Given the description of an element on the screen output the (x, y) to click on. 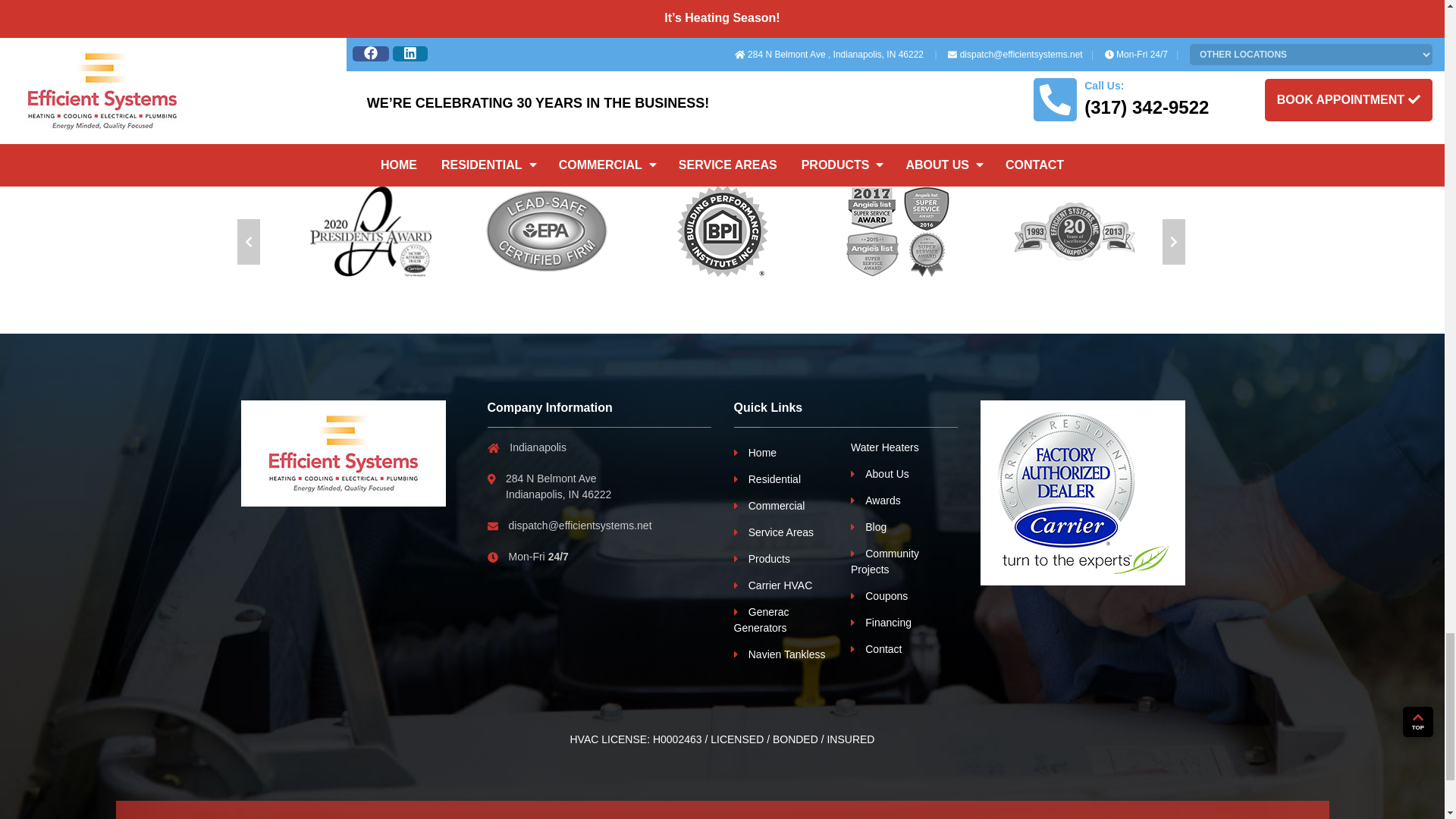
Efficient Systems, Inc, Indianapolis, IN (343, 453)
